Given the description of an element on the screen output the (x, y) to click on. 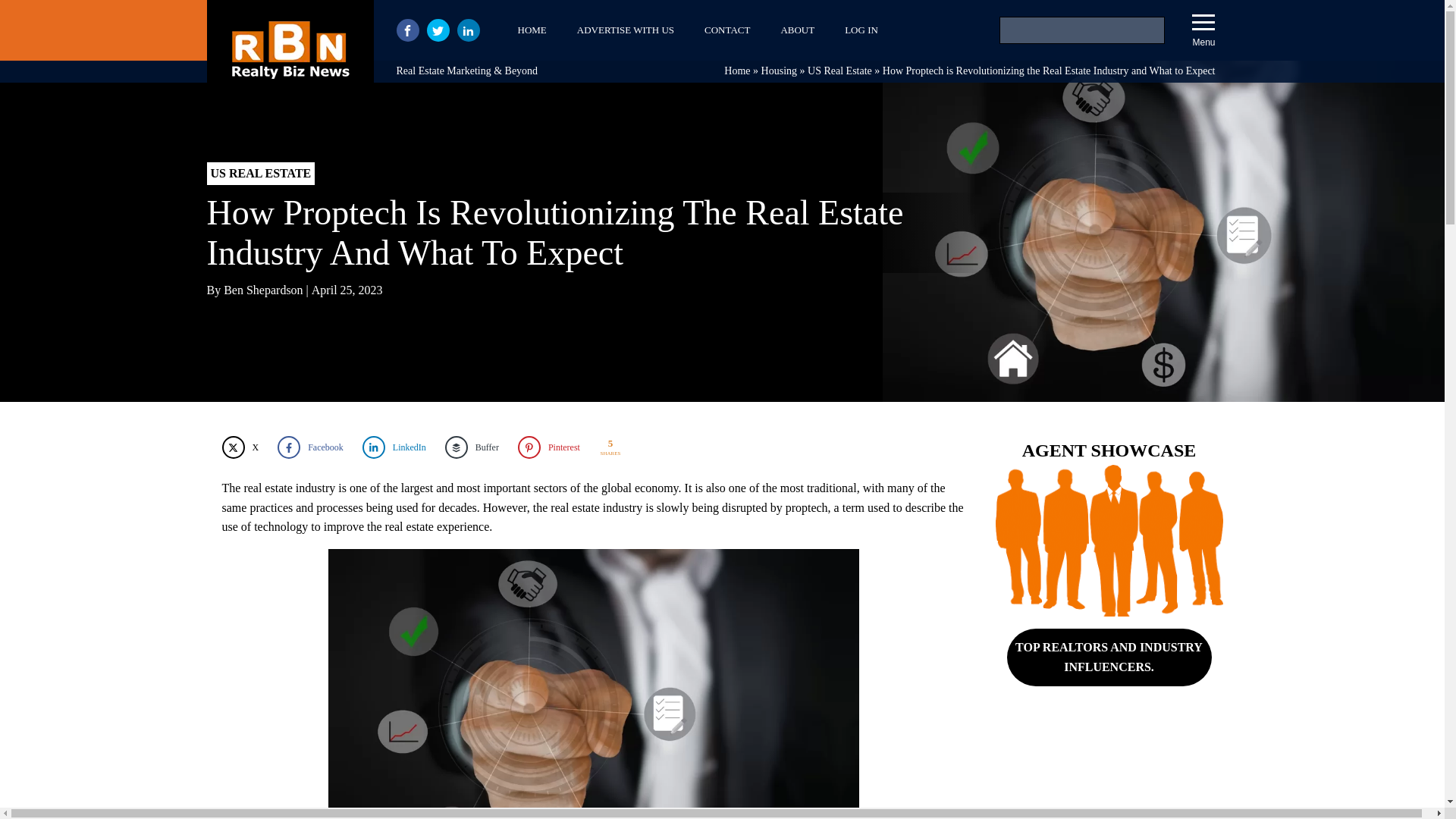
Home (736, 70)
Housing (778, 70)
Advertisement (1108, 773)
ABOUT (797, 30)
CONTACT (726, 30)
LOG IN (861, 30)
US Real Estate (840, 70)
ADVERTISE WITH US (625, 30)
HOME (531, 30)
Housing (778, 70)
US Real Estate (840, 70)
Search (31, 13)
Home (736, 70)
